Given the description of an element on the screen output the (x, y) to click on. 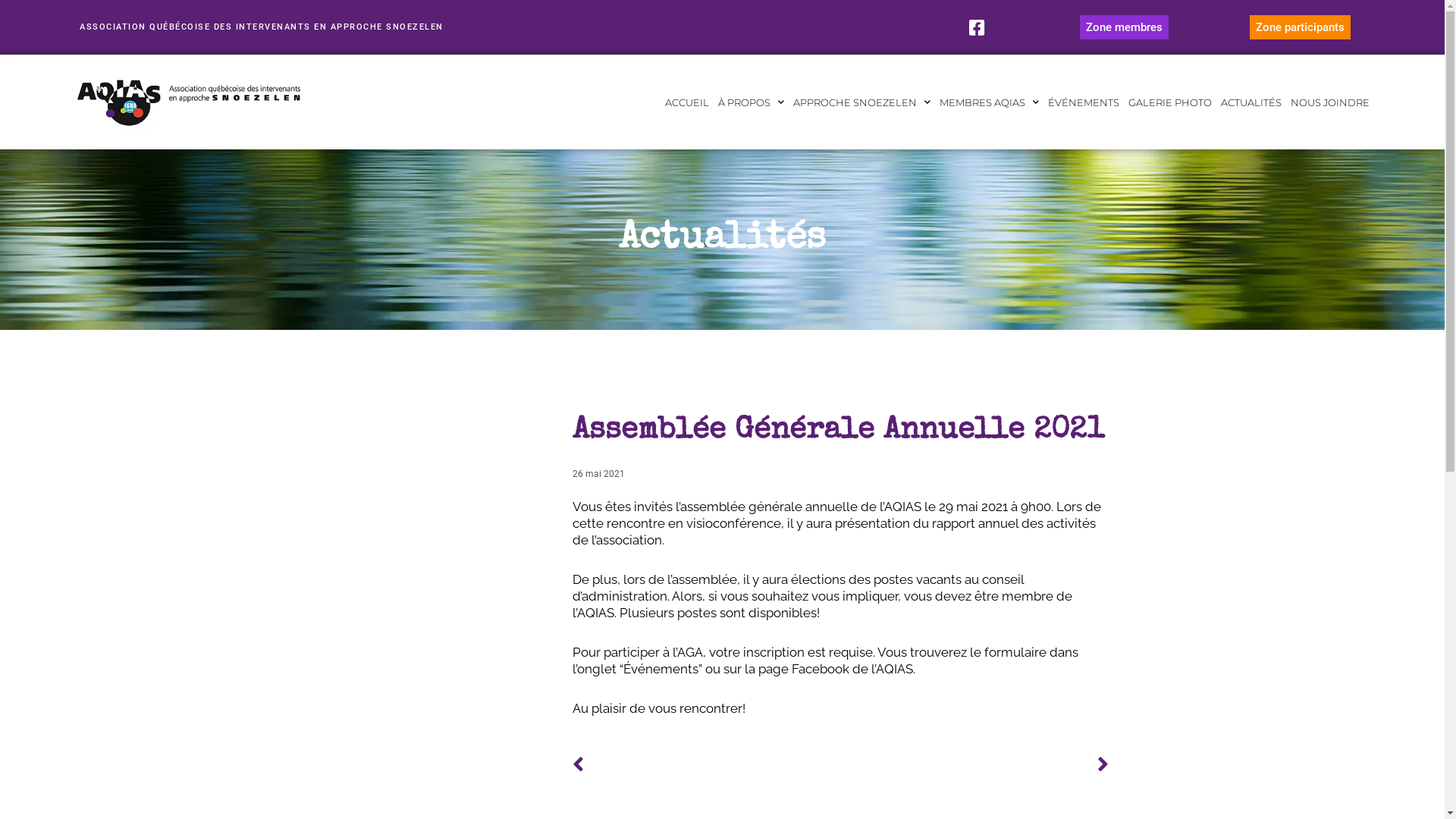
Suivant Element type: text (974, 764)
APPROCHE SNOEZELEN Element type: text (861, 102)
Zone membres Element type: text (1123, 27)
NOUS JOINDRE Element type: text (1329, 102)
ACCUEIL Element type: text (687, 102)
GALERIE PHOTO Element type: text (1169, 102)
MEMBRES AQIAS Element type: text (988, 102)
Zone participants Element type: text (1299, 27)
